Given the description of an element on the screen output the (x, y) to click on. 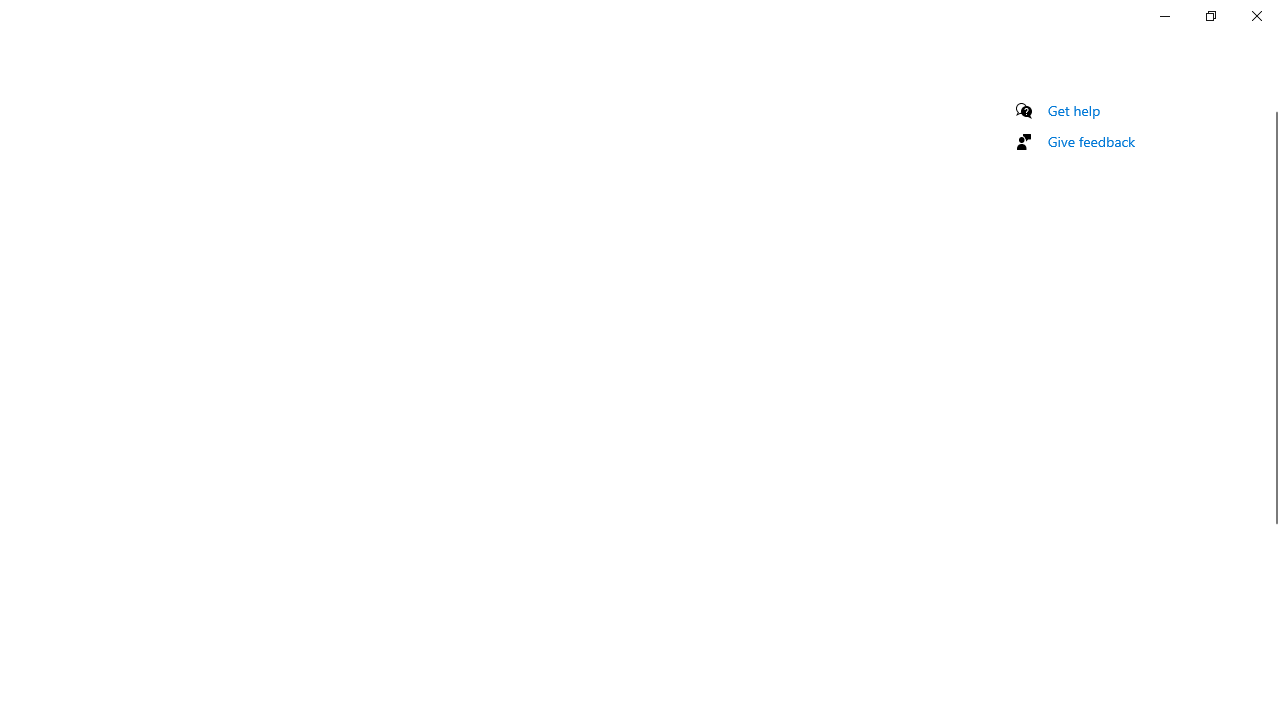
Get help (1074, 110)
Restore Settings (1210, 15)
Minimize Settings (1164, 15)
Vertical Small Decrease (1272, 103)
Give feedback (1091, 141)
Close Settings (1256, 15)
